Given the description of an element on the screen output the (x, y) to click on. 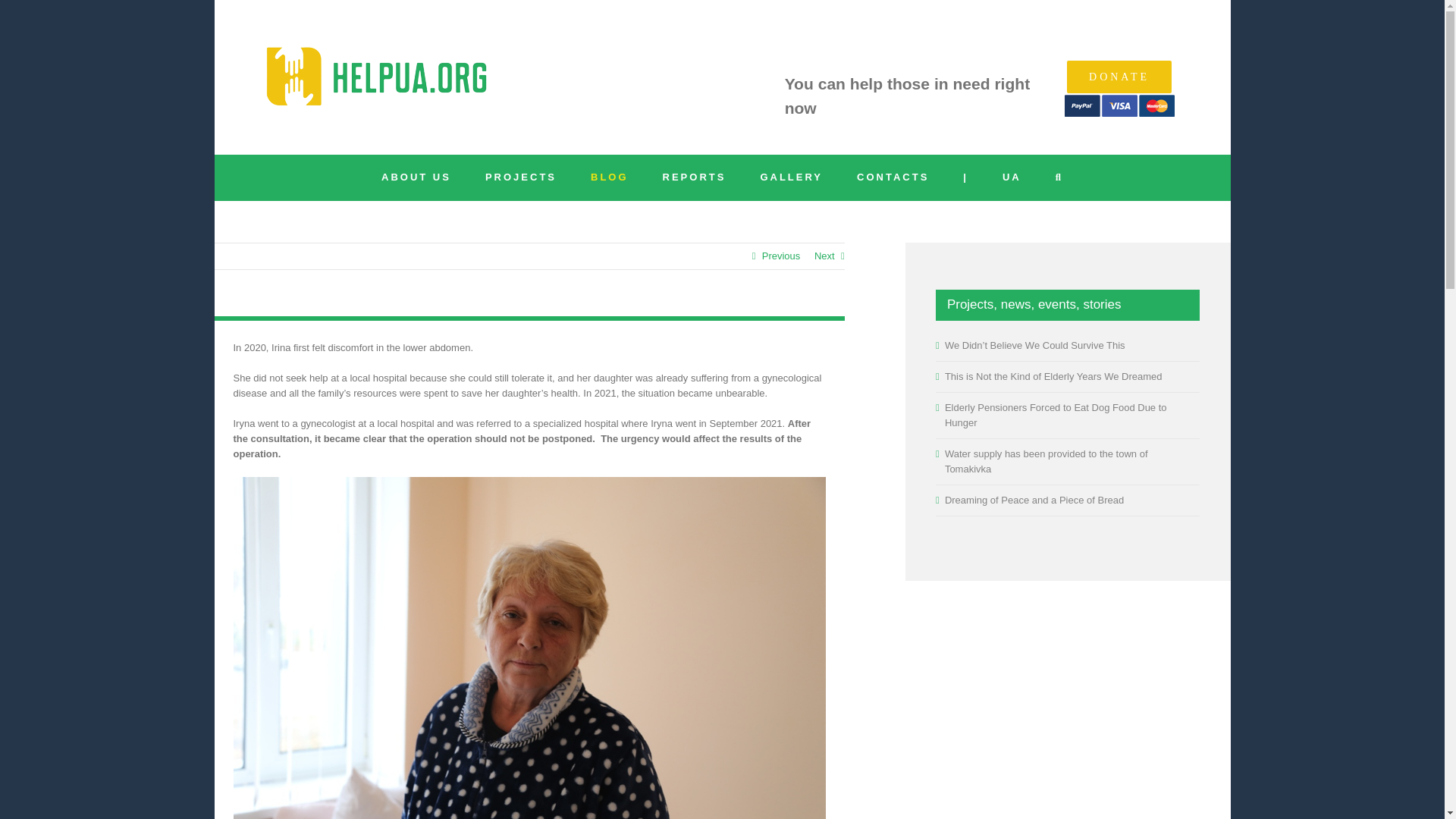
ABOUT US (416, 176)
PROJECTS (520, 176)
Dreaming of Peace and a Piece of Bread (1034, 500)
Previous (780, 256)
GALLERY (791, 176)
Elderly Pensioners Forced to Eat Dog Food Due to Hunger (1055, 415)
CONTACTS (892, 176)
This is Not the Kind of Elderly Years We Dreamed (1052, 376)
DONATE (1119, 76)
Water supply has been provided to the town of Tomakivka (1046, 461)
